Given the description of an element on the screen output the (x, y) to click on. 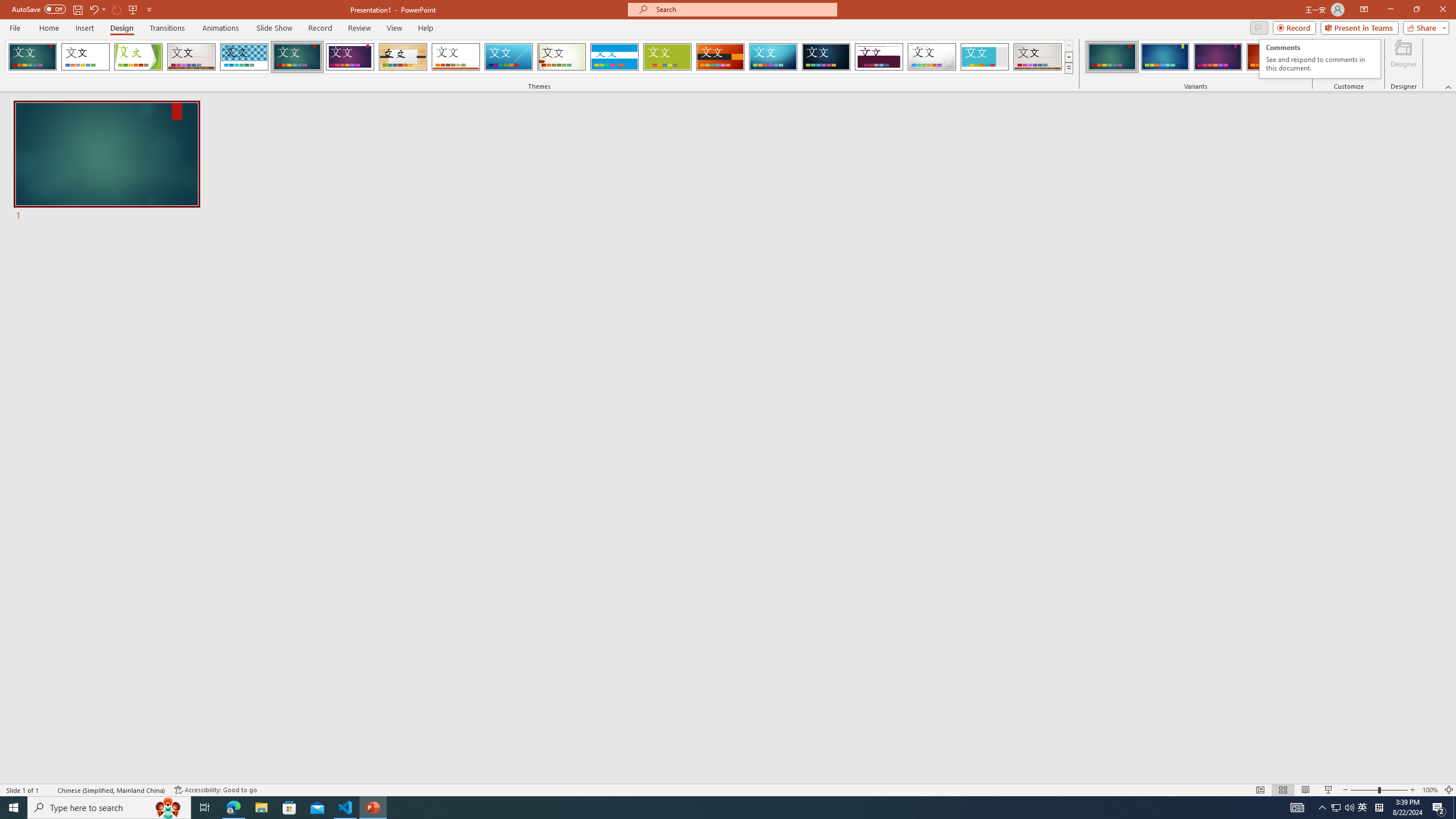
Ion Variant 1 (1112, 56)
Facet (138, 56)
Integral Loading Preview... (244, 56)
Zoom 100% (1430, 790)
